Given the description of an element on the screen output the (x, y) to click on. 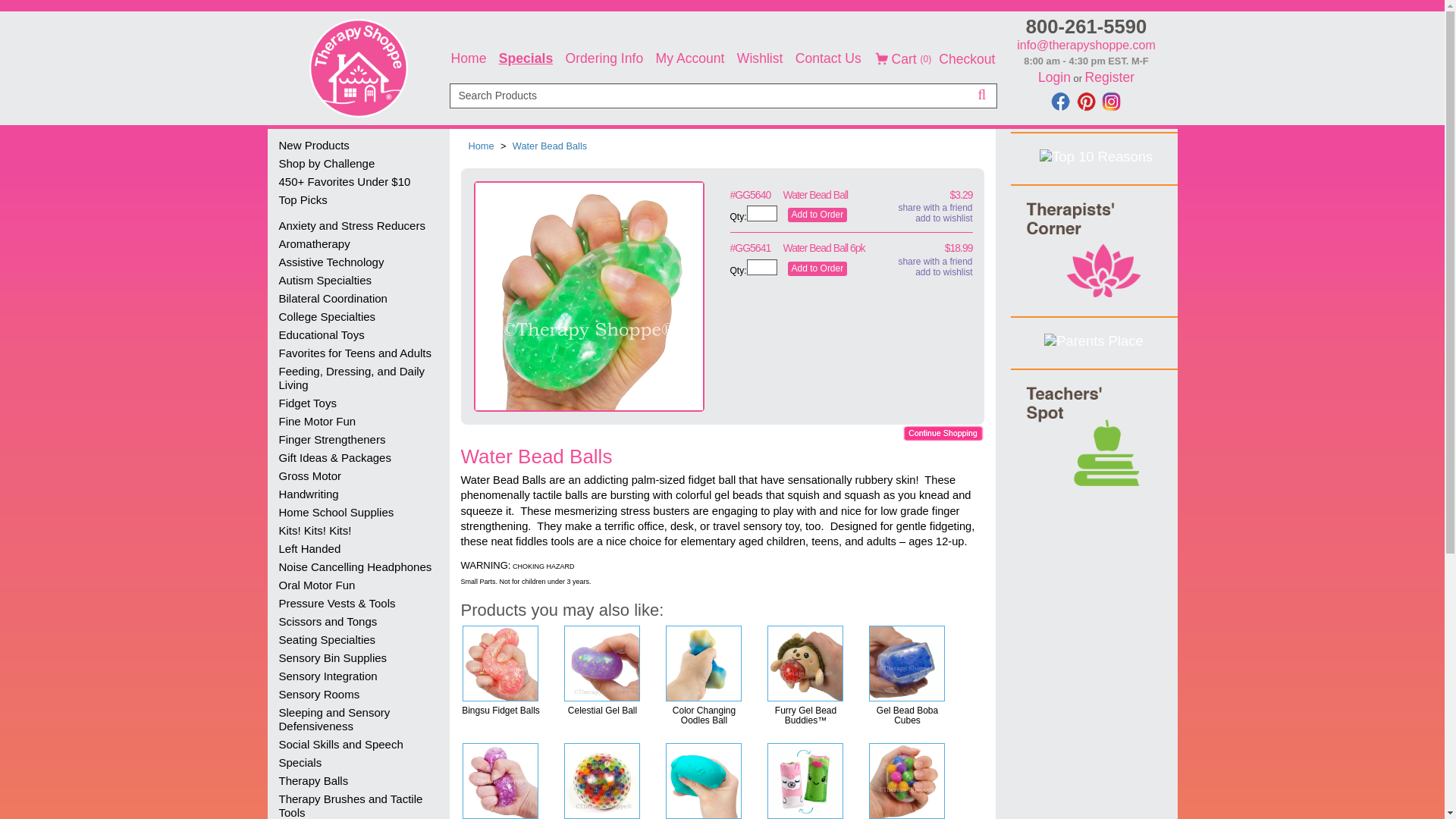
Search Products (722, 145)
Search Products (721, 95)
